Given the description of an element on the screen output the (x, y) to click on. 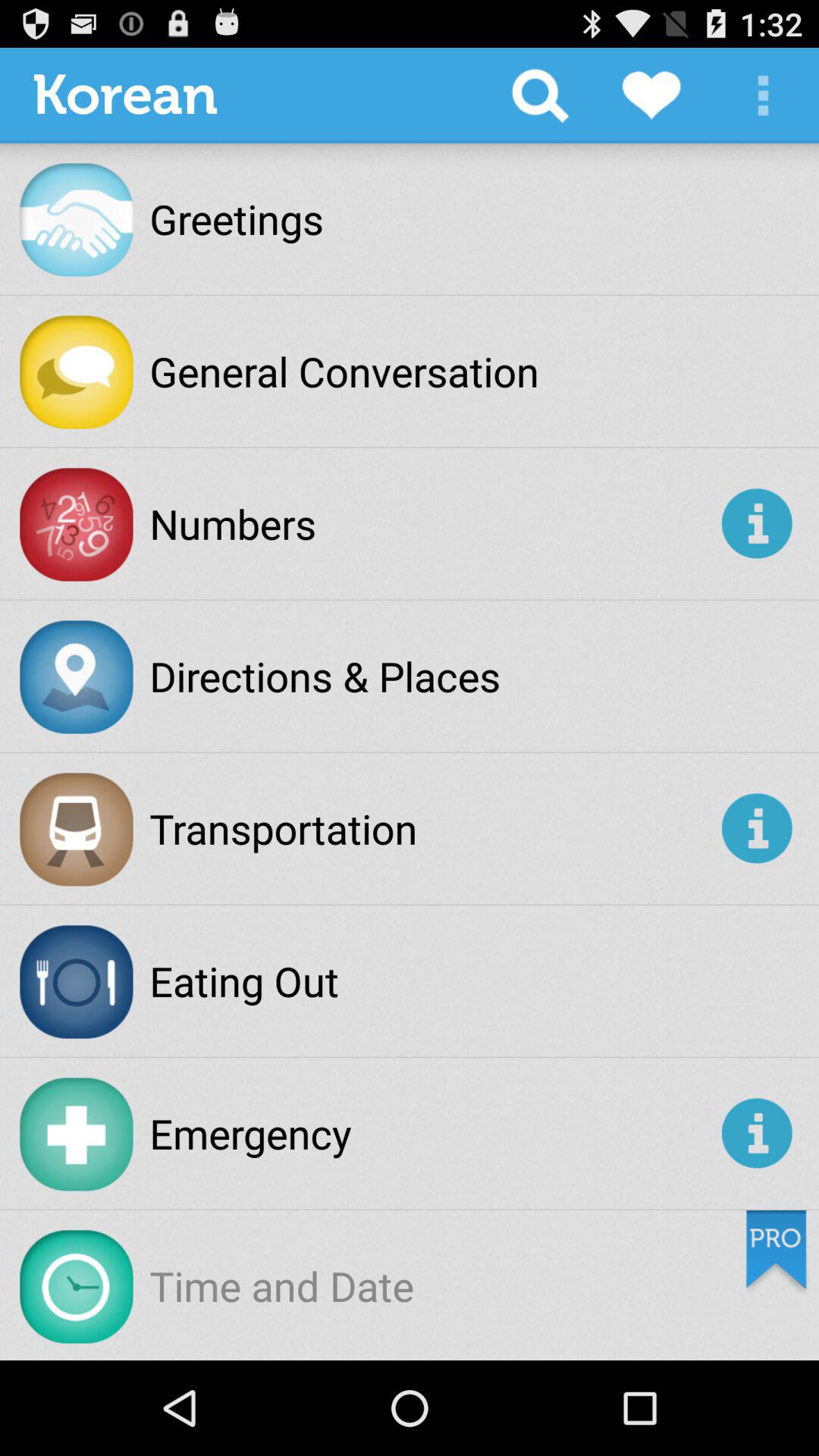
turn on emergency (432, 1132)
